Given the description of an element on the screen output the (x, y) to click on. 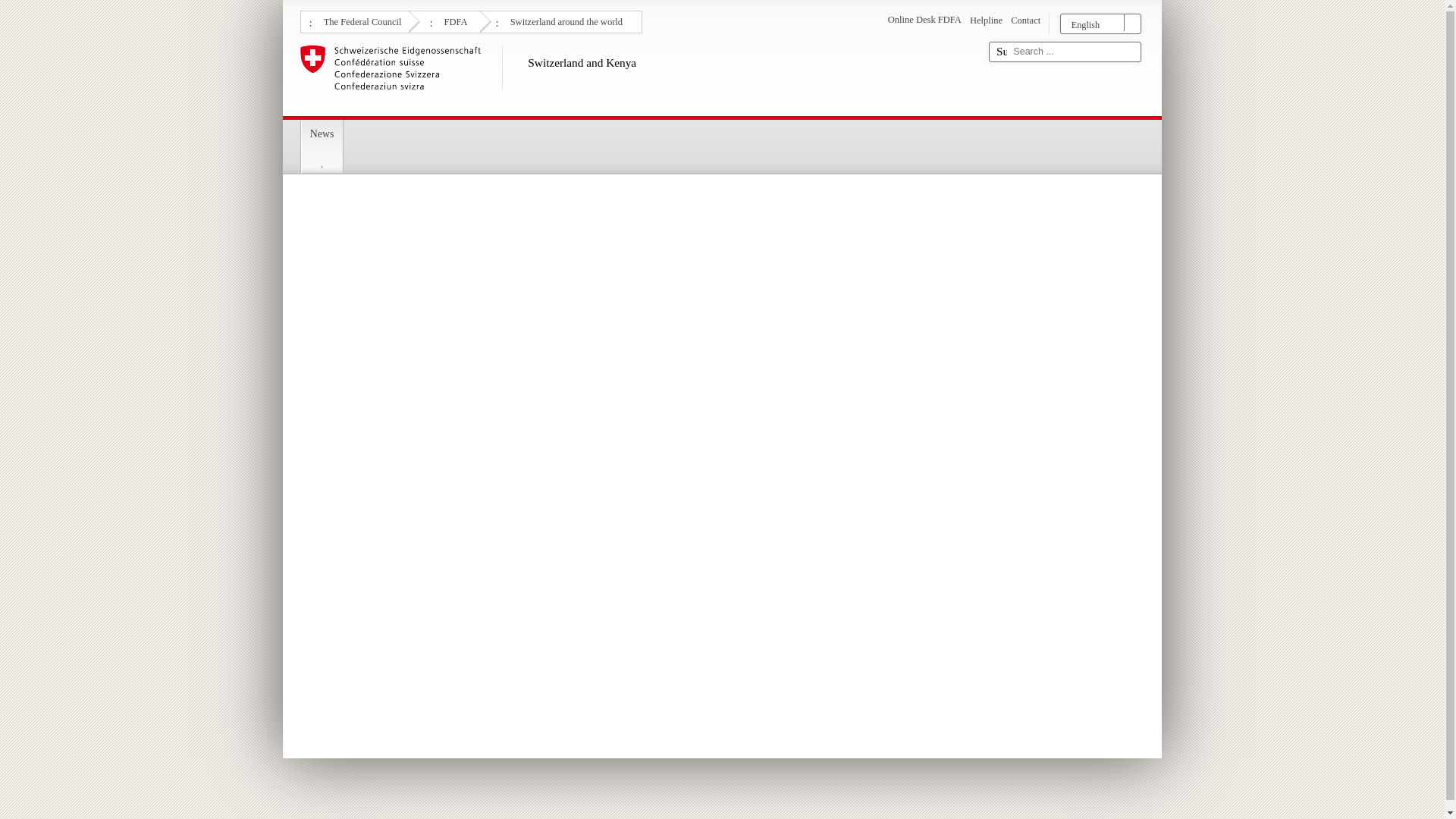
FDFA (454, 20)
The Federal Council (360, 20)
Switzerland and Kenya (637, 76)
Switzerland around the world (564, 20)
